Given the description of an element on the screen output the (x, y) to click on. 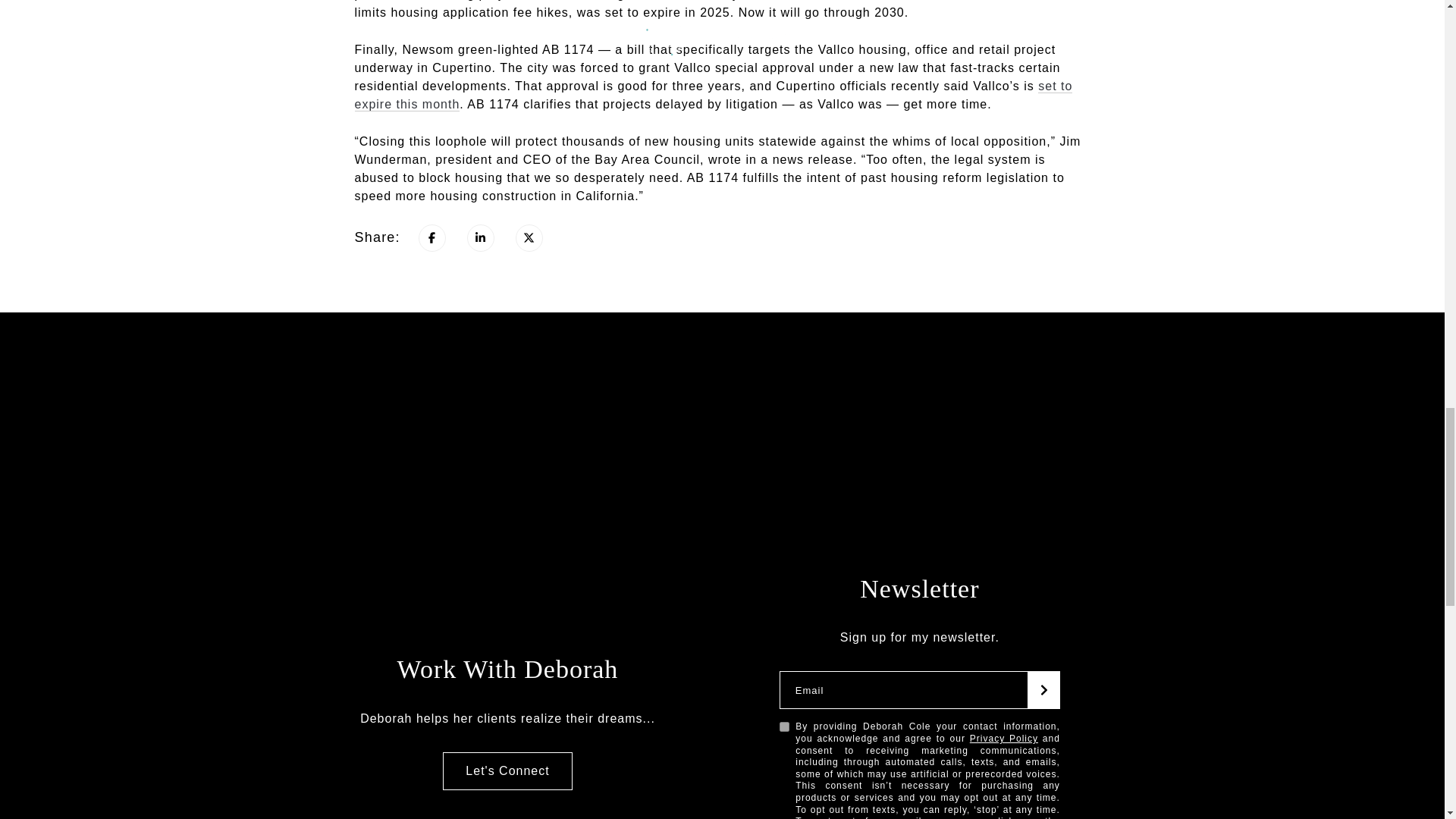
on (783, 726)
